Given the description of an element on the screen output the (x, y) to click on. 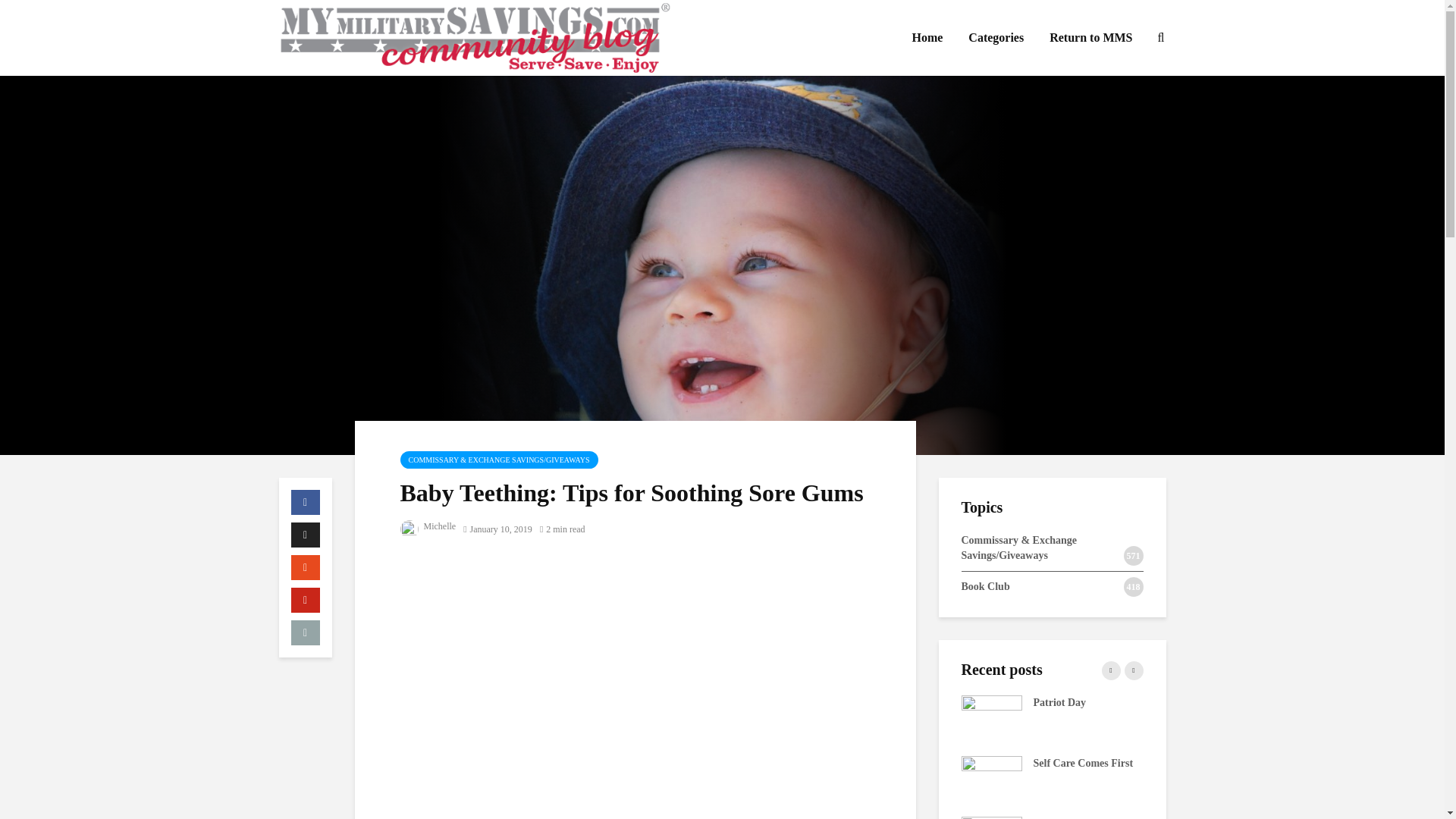
Categories (995, 37)
Michelle (428, 525)
Self Care Comes First (991, 777)
Sidewalk Sales This September! (627, 716)
Home (926, 37)
Sidewalk Sales This September! (1173, 716)
Patriot Day (991, 716)
Return to MMS (1090, 37)
